Given the description of an element on the screen output the (x, y) to click on. 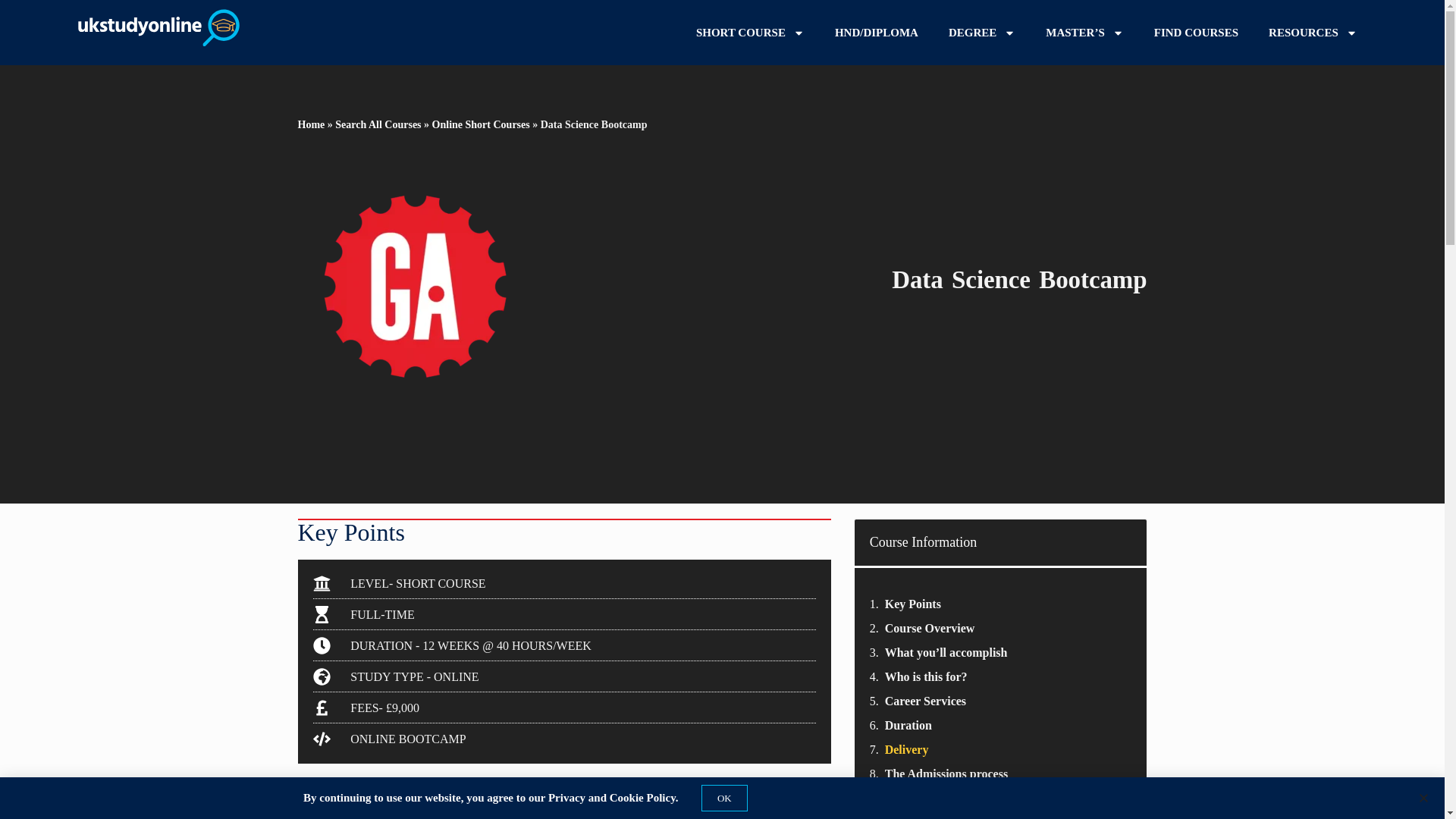
RESOURCES (1313, 32)
FIND COURSES (1195, 32)
SHORT COURSE (750, 32)
DEGREE (981, 32)
